Given the description of an element on the screen output the (x, y) to click on. 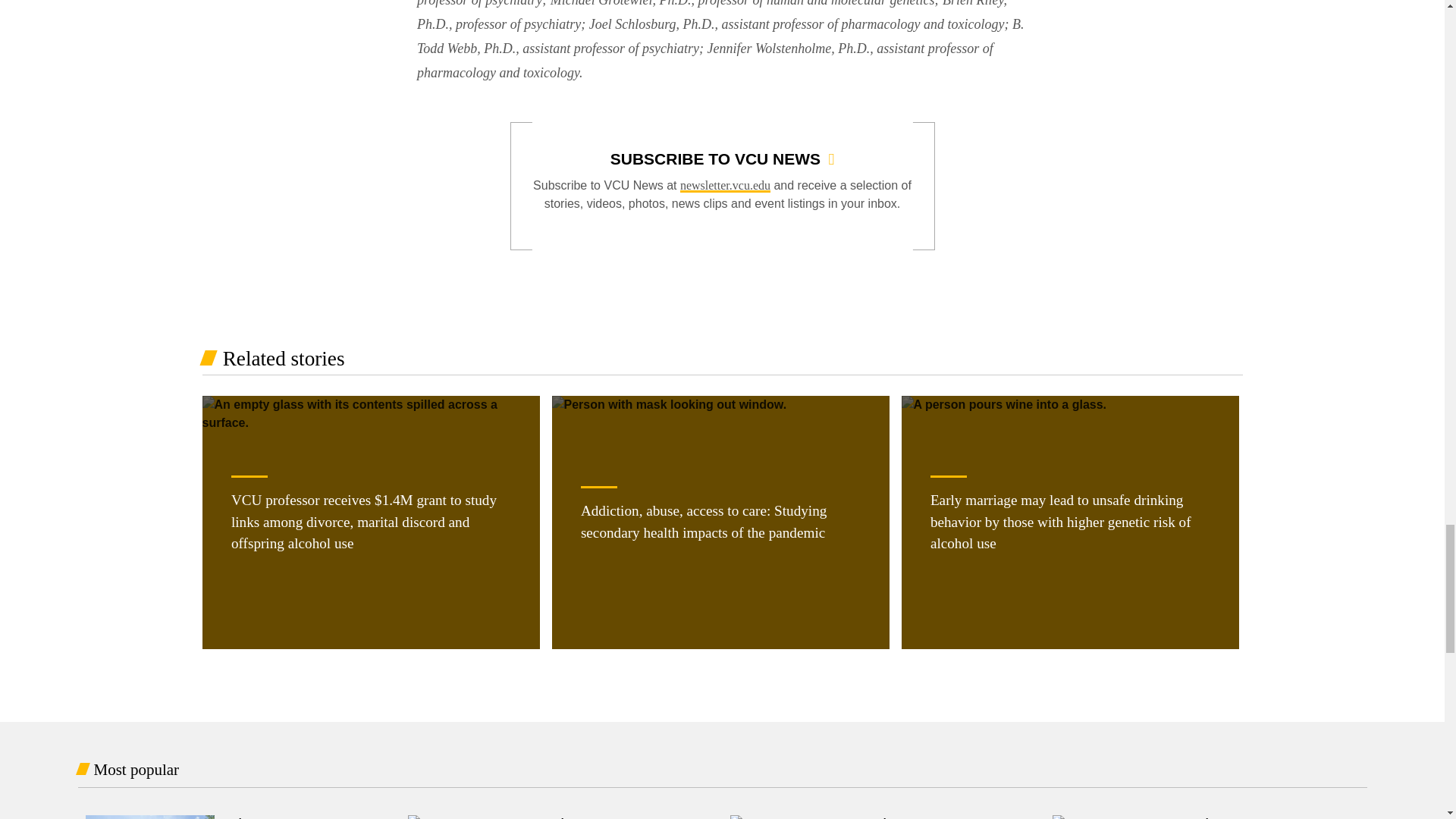
newsletter.vcu.edu (724, 185)
